Given the description of an element on the screen output the (x, y) to click on. 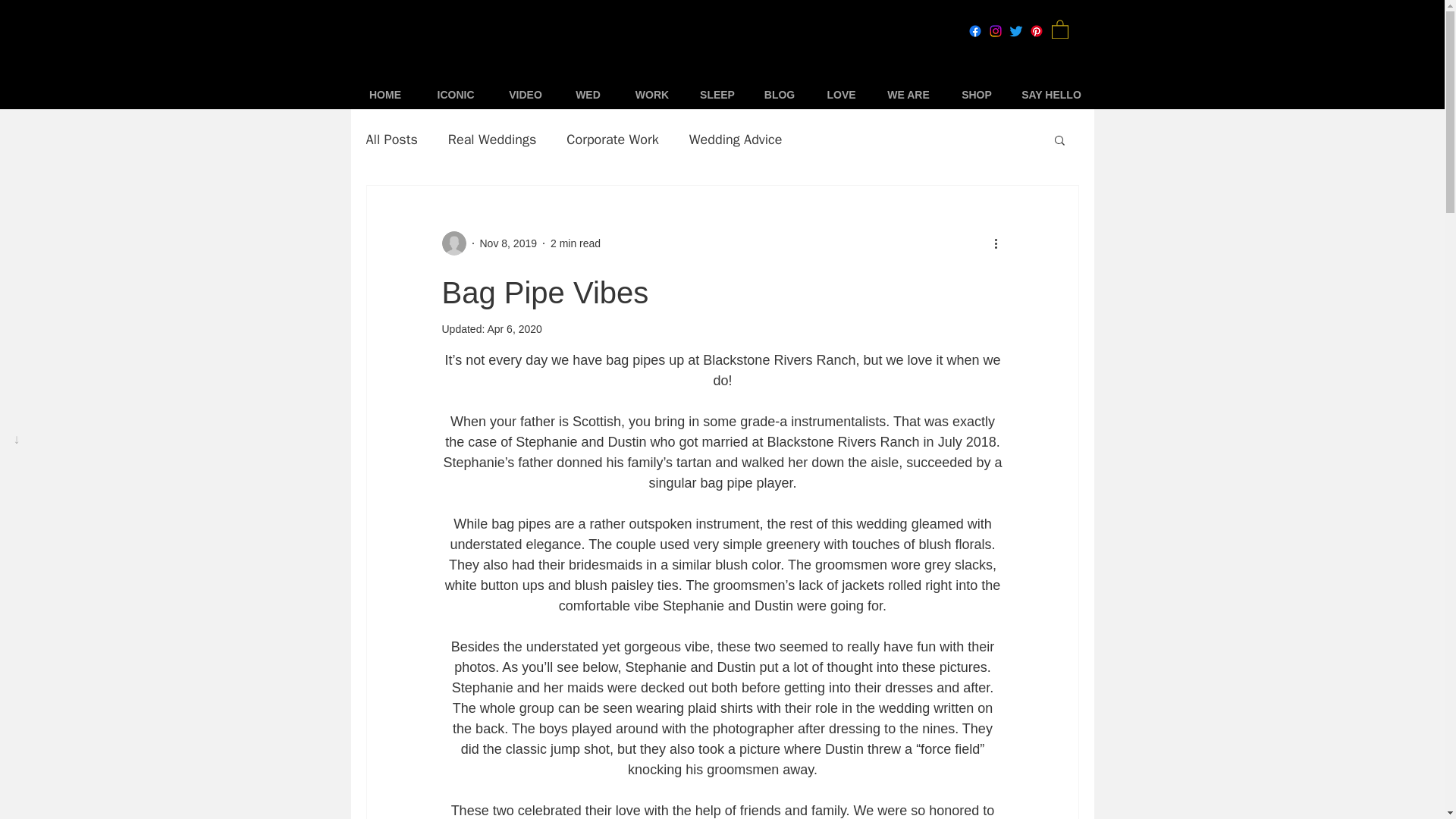
SAY HELLO (1051, 95)
SLEEP (717, 95)
LOVE (841, 95)
BLOG (779, 95)
HOME (385, 95)
WORK (651, 95)
Nov 8, 2019 (508, 243)
All Posts (390, 139)
2 min read (574, 243)
Real Weddings (491, 139)
Corporate Work (612, 139)
VIDEO (526, 95)
Apr 6, 2020 (513, 328)
Wedding Advice (735, 139)
WED (587, 95)
